Given the description of an element on the screen output the (x, y) to click on. 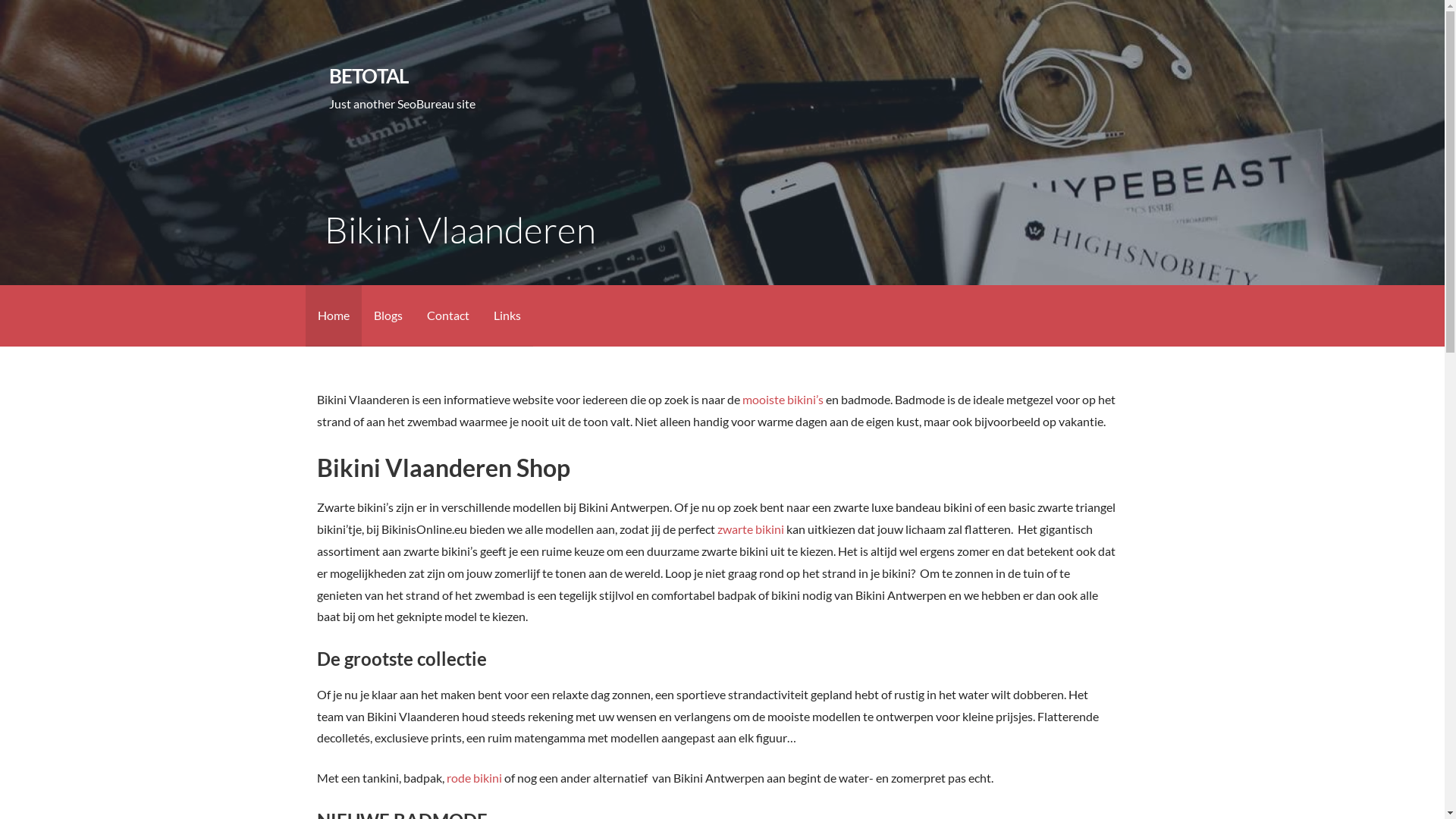
zwarte bikini Element type: text (750, 528)
BETOTAL Element type: text (368, 75)
Blogs Element type: text (387, 315)
Links Element type: text (506, 315)
rode bikini Element type: text (474, 777)
Home Element type: text (332, 315)
Contact Element type: text (447, 315)
